Given the description of an element on the screen output the (x, y) to click on. 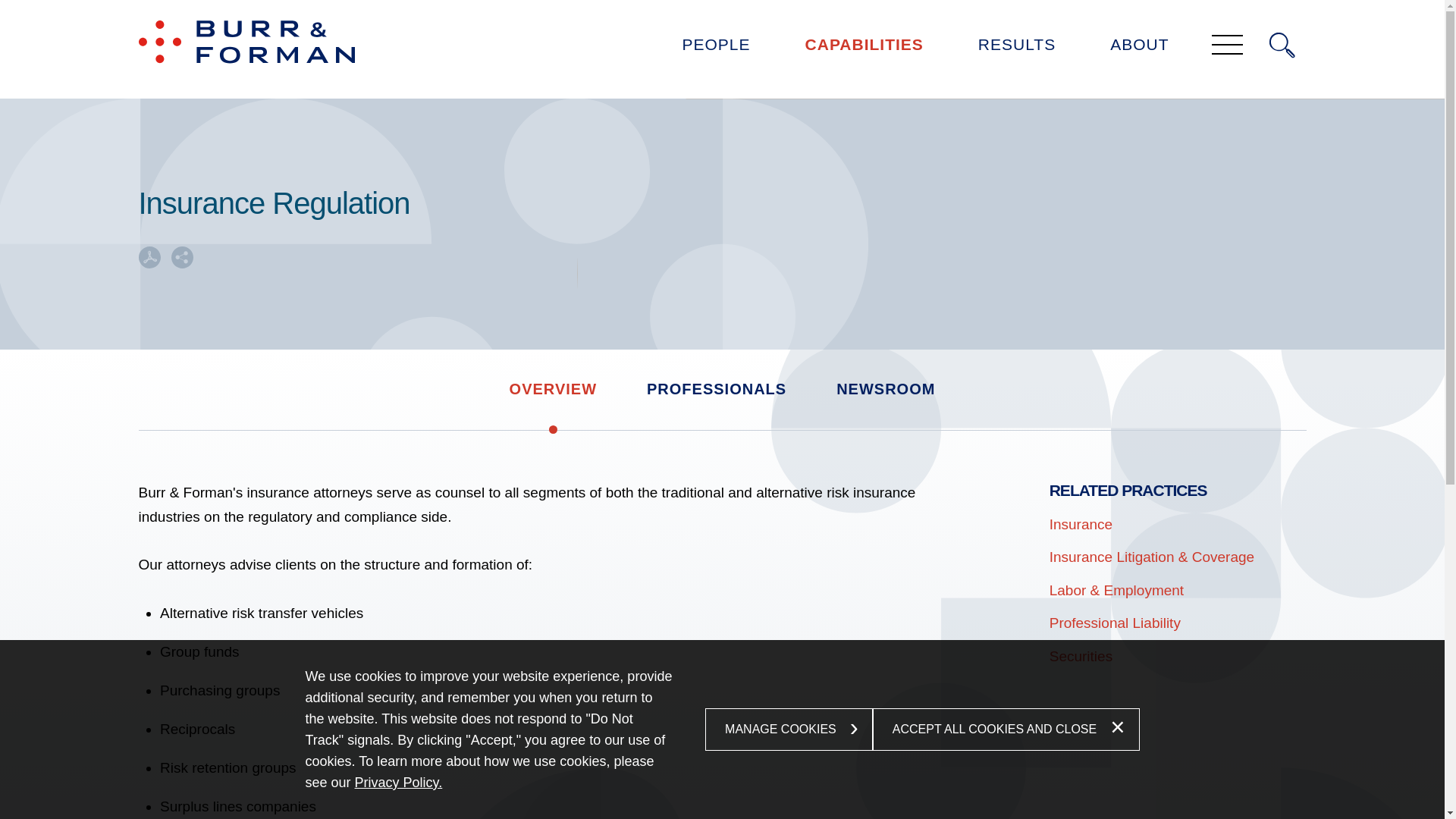
Main Content (674, 17)
Menu (680, 17)
Search (1282, 45)
PEOPLE (716, 48)
CAPABILITIES (863, 48)
RESULTS (1016, 48)
Share (182, 257)
Share (182, 262)
ABOUT (1139, 48)
Print PDF (149, 262)
Menu (1227, 45)
Main Menu (680, 17)
PDF (149, 257)
